Given the description of an element on the screen output the (x, y) to click on. 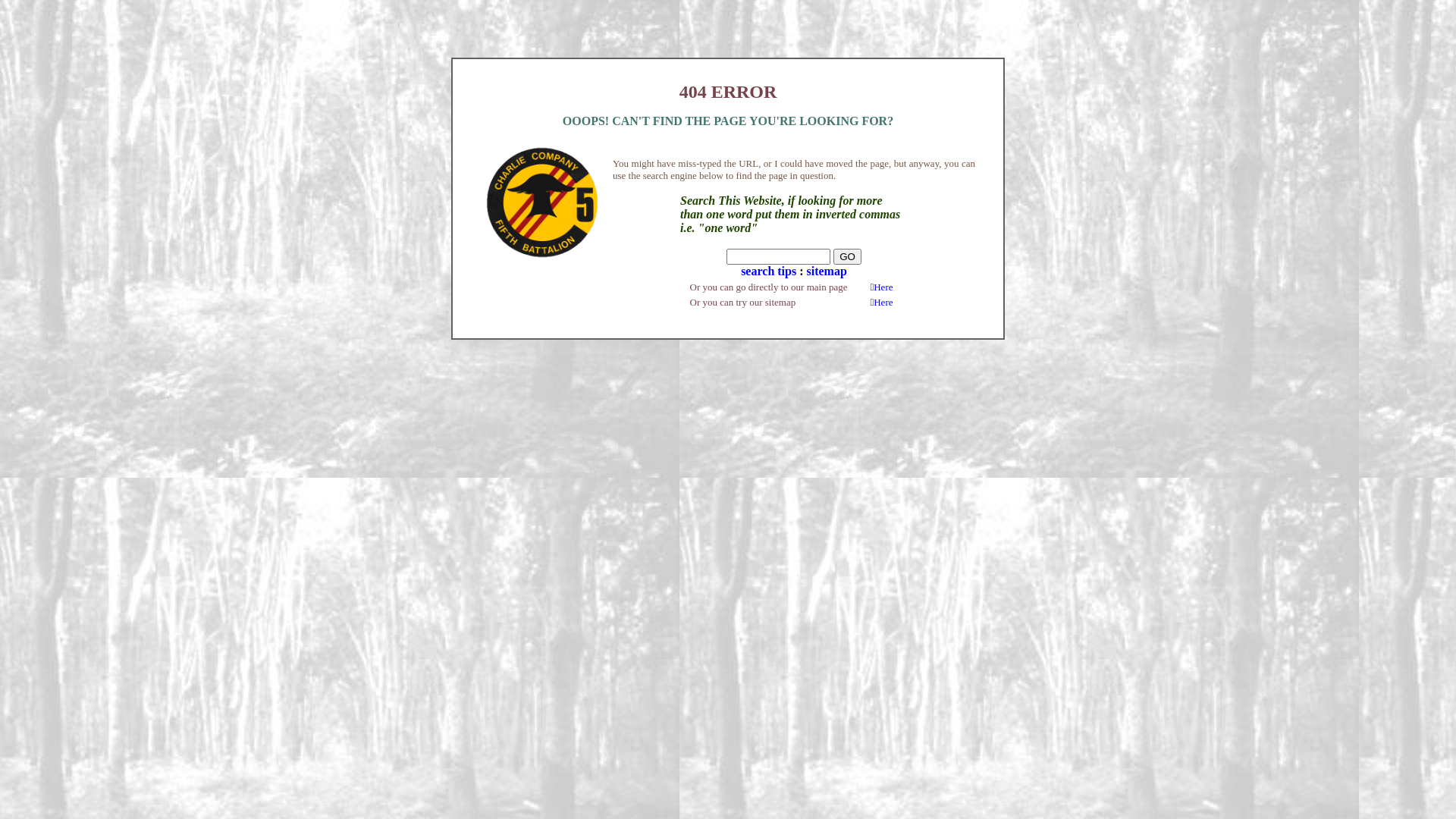
Here Element type: text (882, 301)
search tips Element type: text (768, 270)
GO Element type: text (847, 256)
sitemap Element type: text (826, 270)
Here Element type: text (882, 286)
